Given the description of an element on the screen output the (x, y) to click on. 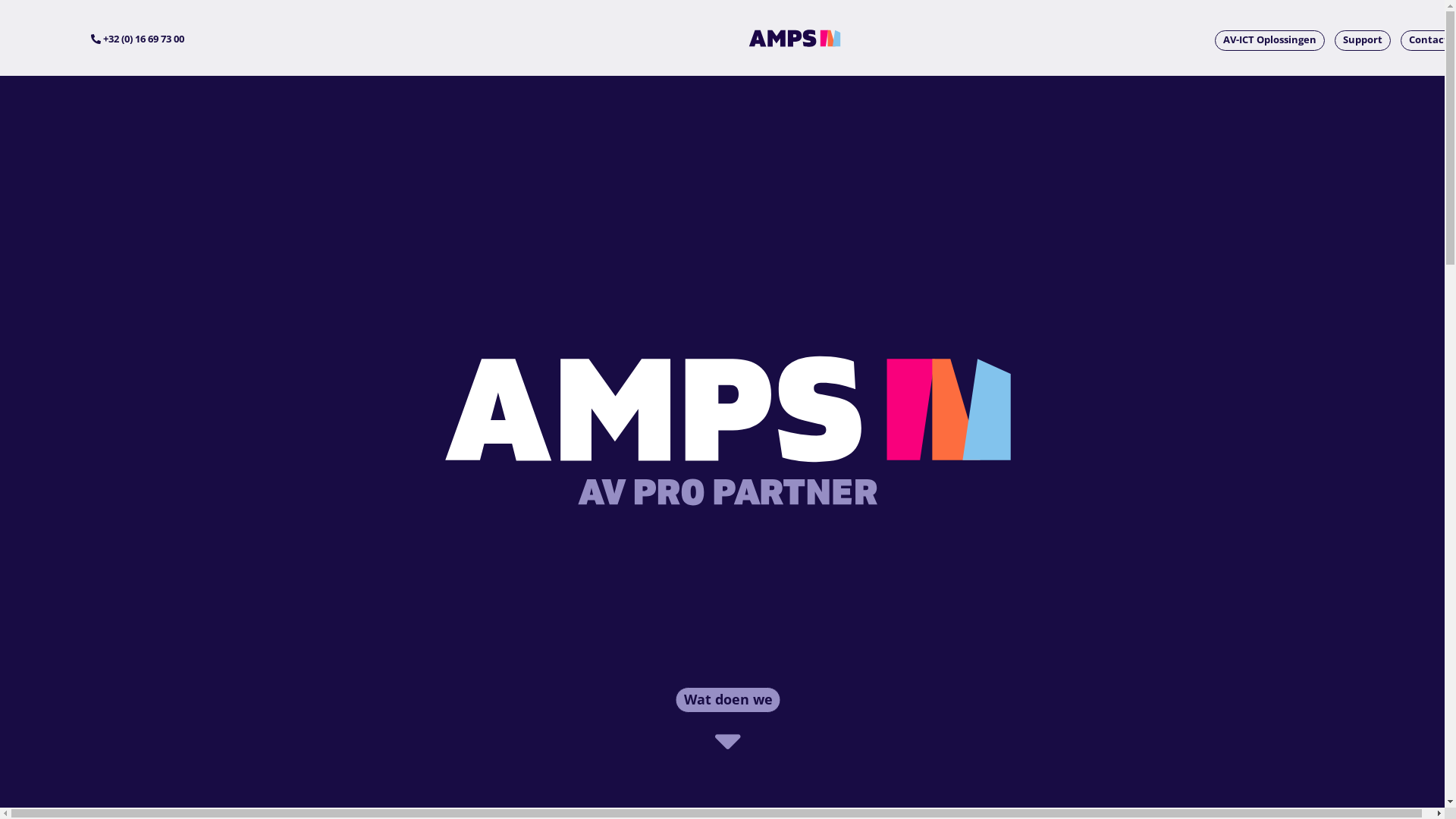
Wat doen we Element type: text (728, 699)
Support Element type: text (1362, 40)
AV-ICT Oplossingen Element type: text (1269, 40)
